Given the description of an element on the screen output the (x, y) to click on. 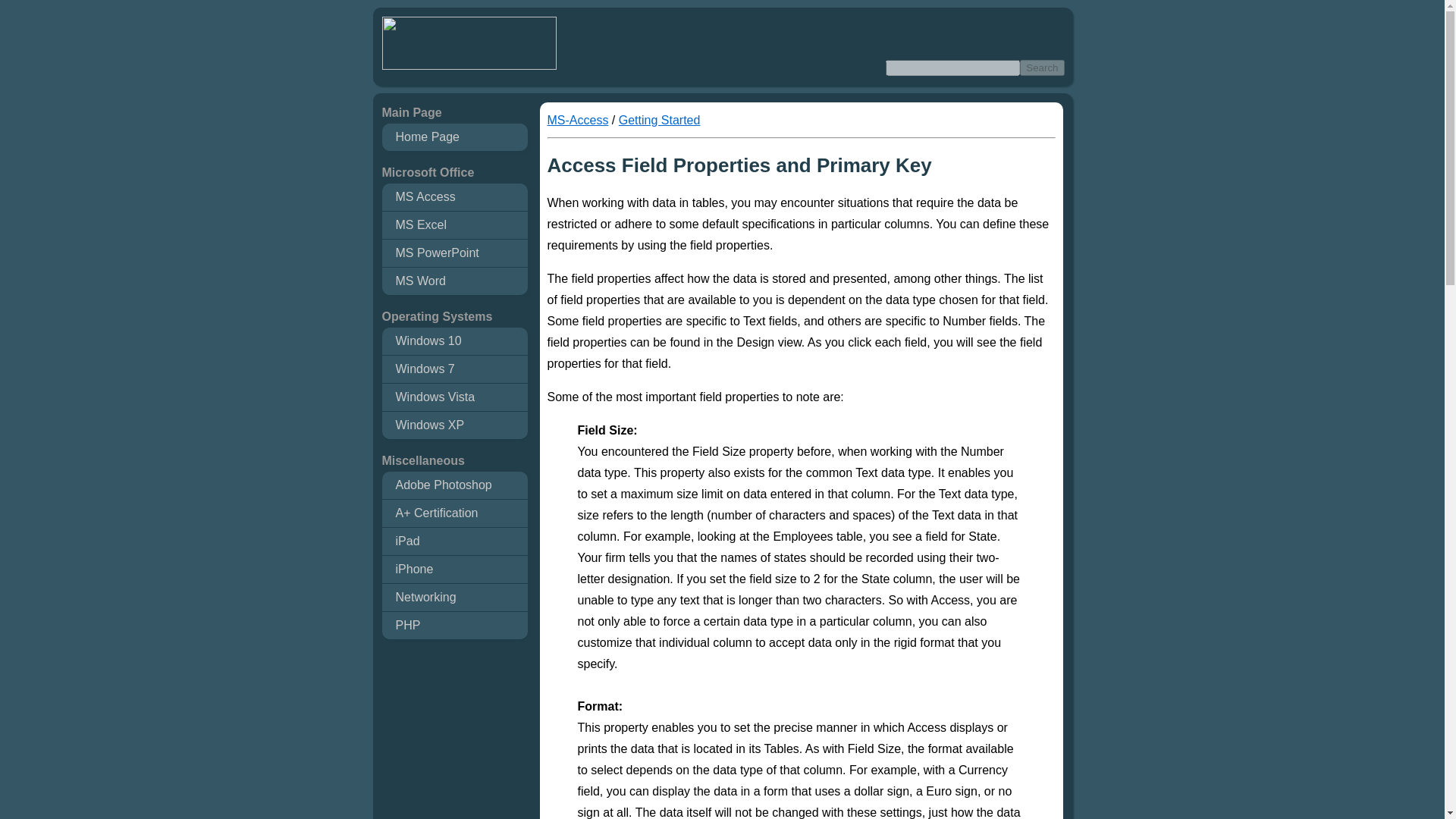
MS PowerPoint (454, 252)
MS-Access (577, 119)
Search (1042, 67)
MS-Access Tutorials (577, 119)
iPhone (454, 569)
Adobe Photoshop (454, 484)
Home Page (454, 136)
Windows Vista (454, 397)
iPad (454, 541)
Networking (454, 596)
Windows 10 (454, 340)
Getting Started (659, 119)
MS Access - Getting Started Tutorials (659, 119)
Search (1042, 67)
Windows XP (454, 424)
